Given the description of an element on the screen output the (x, y) to click on. 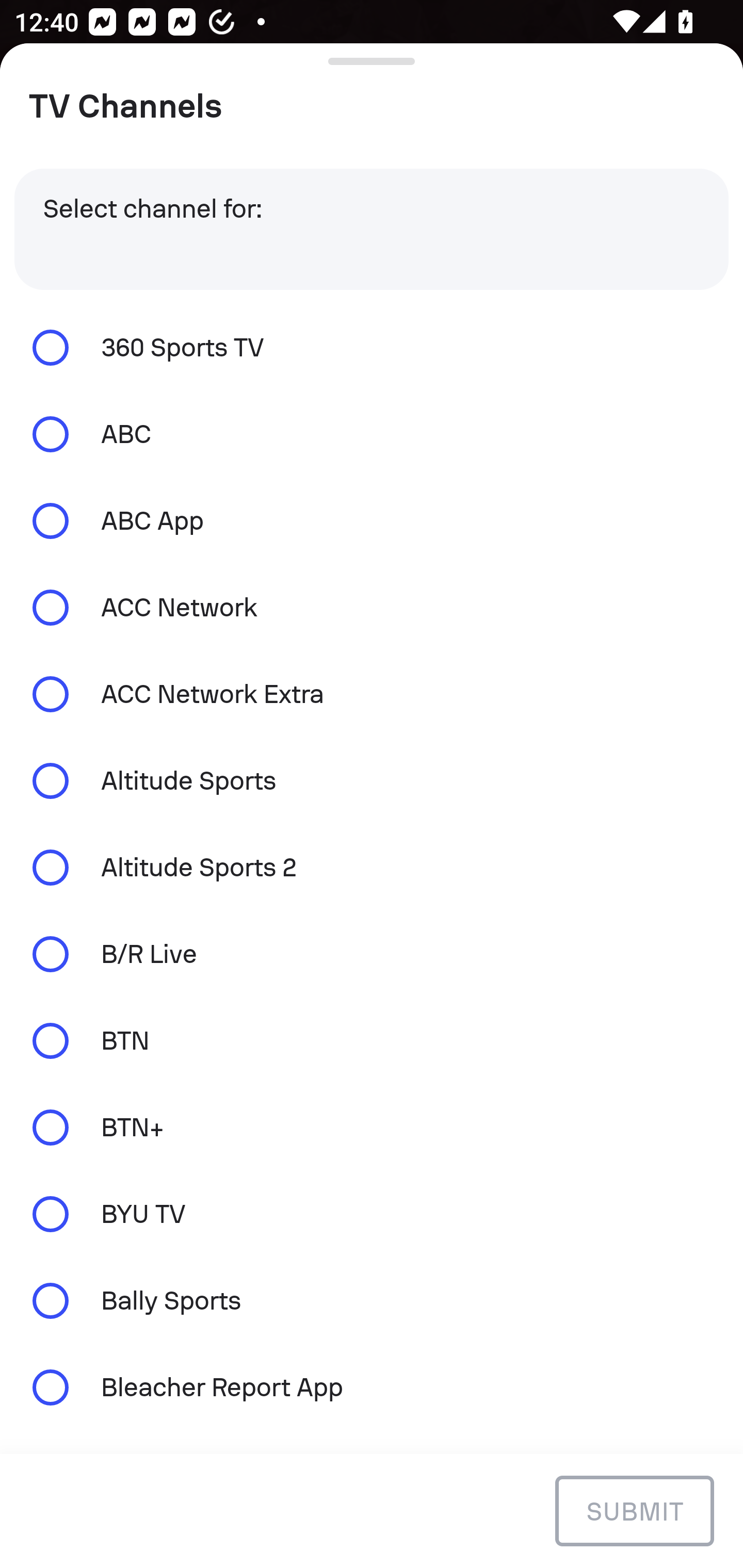
360 Sports TV (371, 347)
ABC (371, 434)
ABC App (371, 521)
ACC Network (371, 607)
ACC Network Extra (371, 693)
Altitude Sports (371, 780)
Altitude Sports 2 (371, 867)
B/R Live (371, 954)
BTN (371, 1040)
BTN+ (371, 1127)
BYU TV (371, 1214)
Bally Sports (371, 1300)
Bleacher Report App (371, 1386)
SUBMIT (634, 1510)
